Given the description of an element on the screen output the (x, y) to click on. 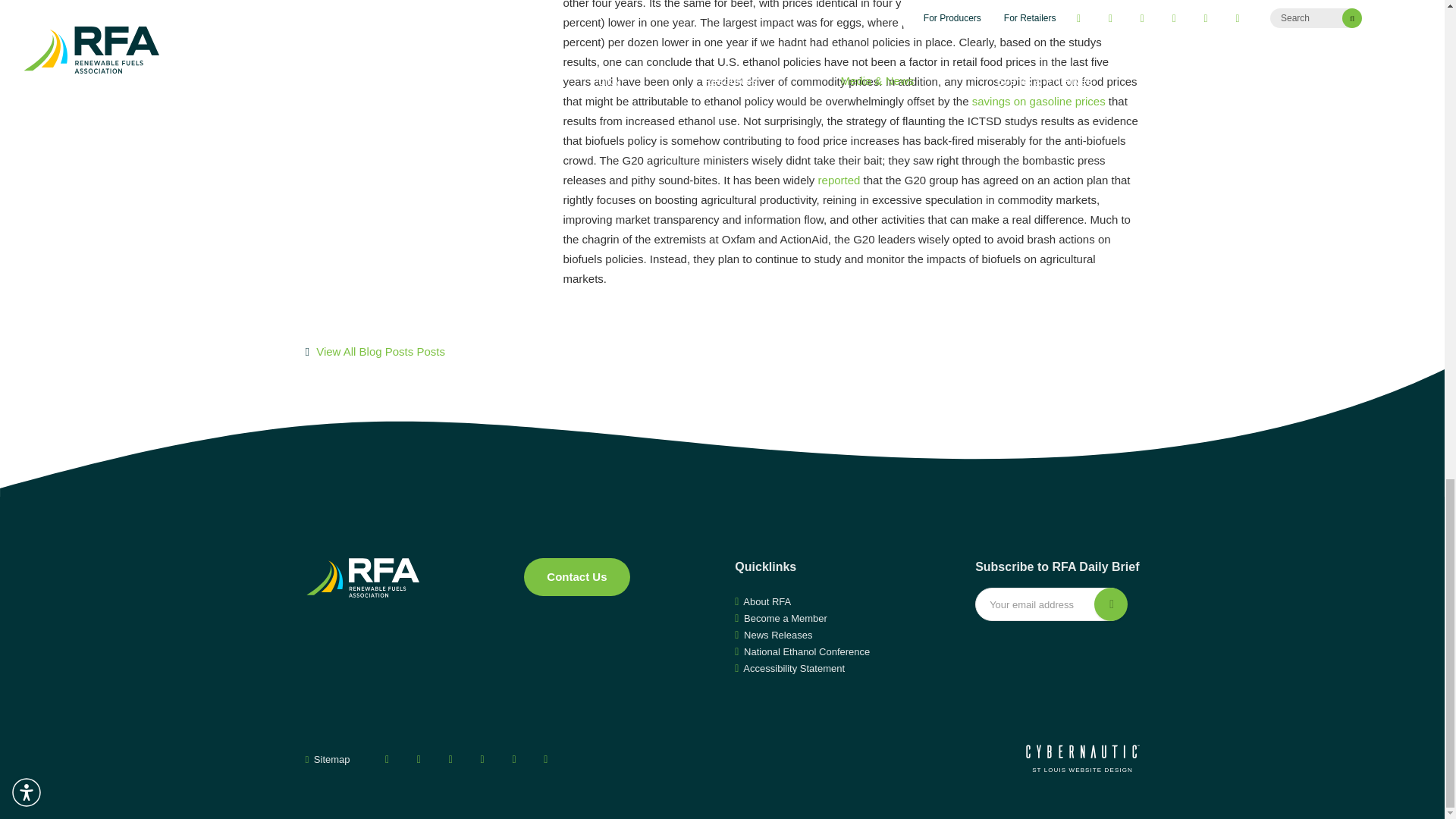
Facebook (386, 758)
YouTube (450, 758)
Instagram (481, 758)
Home (361, 577)
Twitter (418, 758)
LinkedIn (513, 758)
Flickr (545, 758)
